Given the description of an element on the screen output the (x, y) to click on. 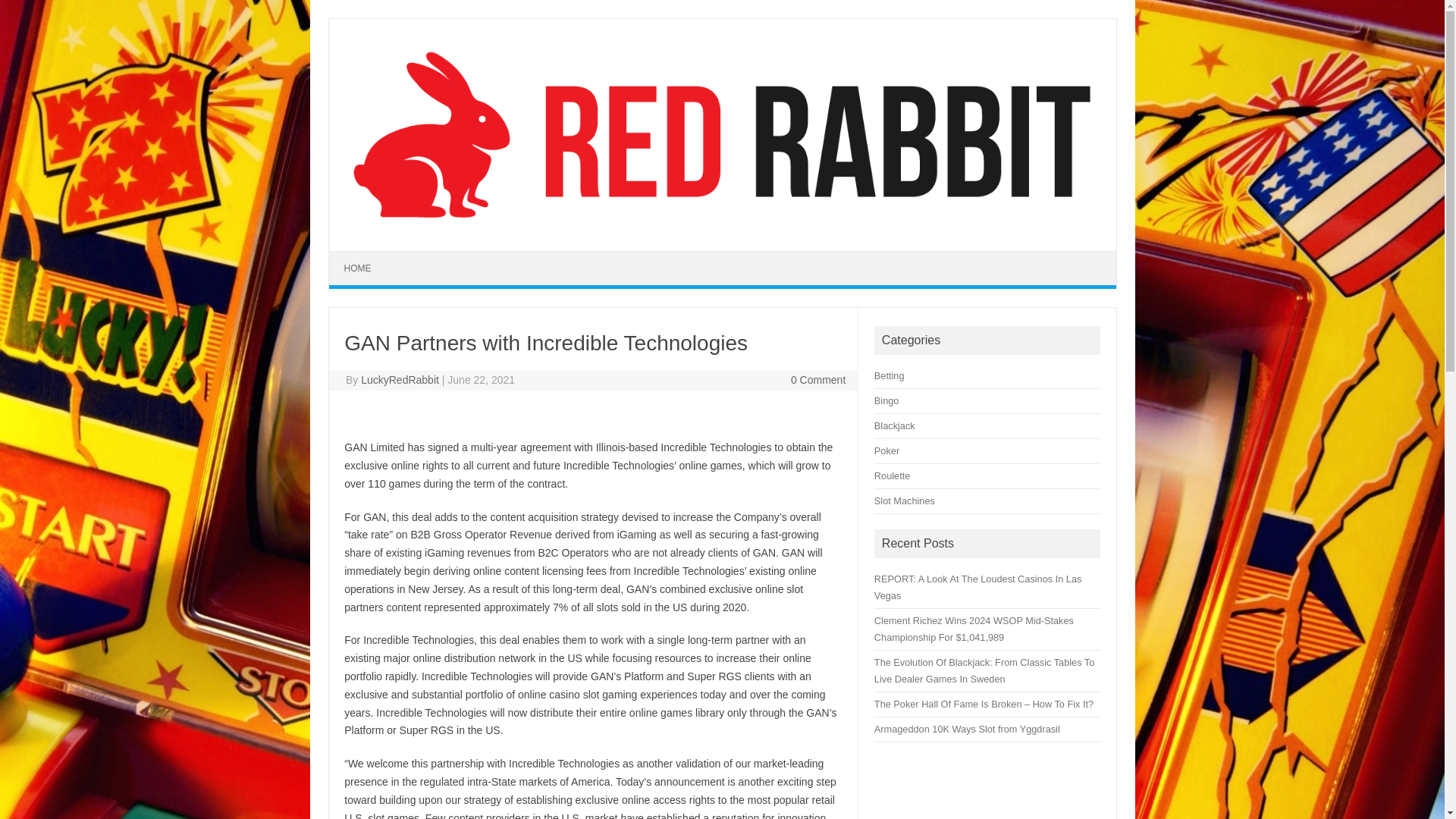
LuckyRedRabbit (400, 379)
Roulette (892, 475)
Posts by LuckyRedRabbit (400, 379)
Slot Machines (904, 500)
Armageddon 10K Ways Slot from Yggdrasil (967, 728)
HOME (358, 268)
Betting (889, 375)
Skip to content (363, 255)
REPORT: A Look At The Loudest Casinos In Las Vegas (978, 587)
Poker (887, 450)
0 Comment (817, 379)
Blackjack (895, 425)
Bingo (887, 400)
Skip to content (363, 255)
